Given the description of an element on the screen output the (x, y) to click on. 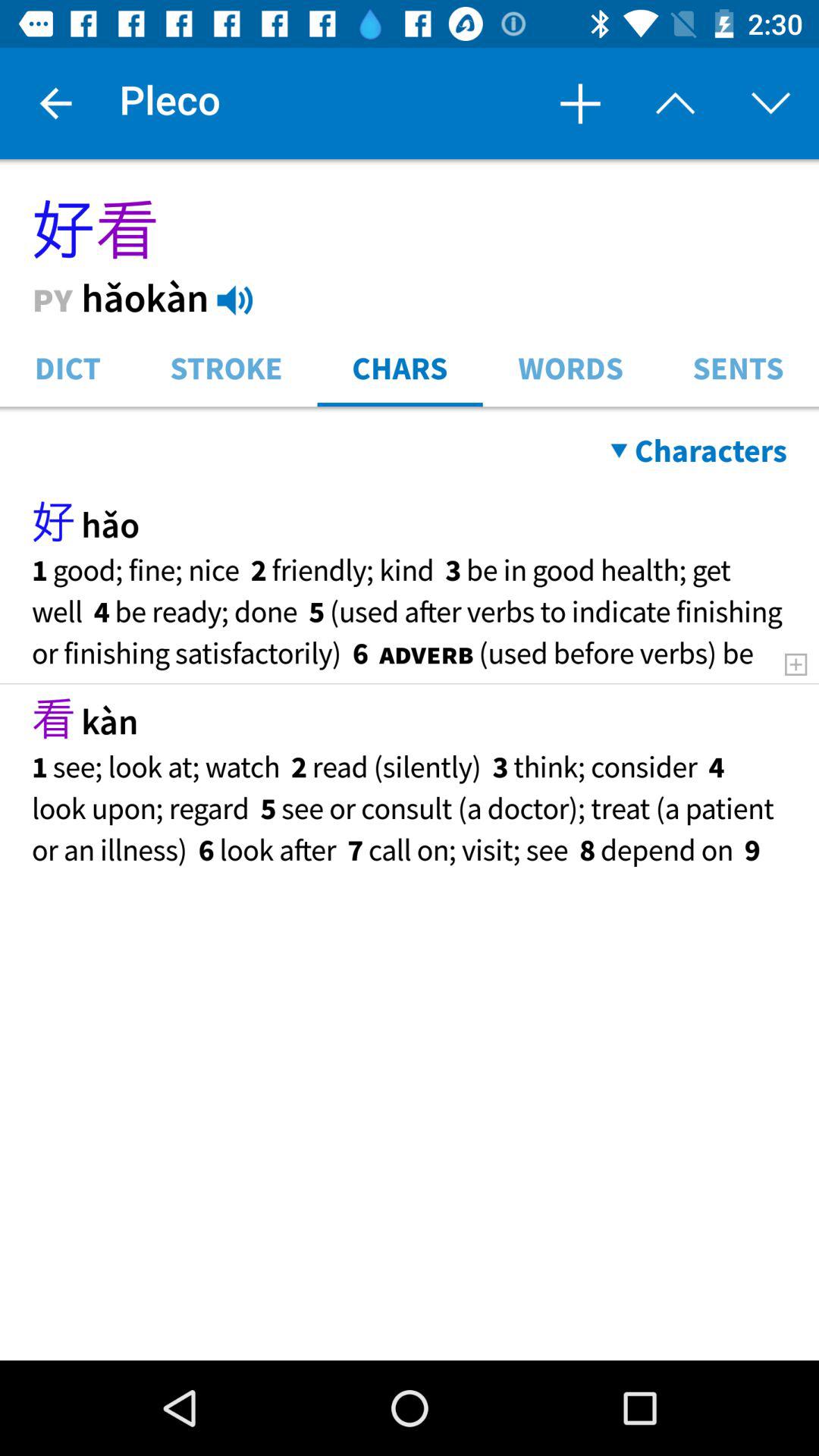
turn on the item below the dict item (409, 410)
